Given the description of an element on the screen output the (x, y) to click on. 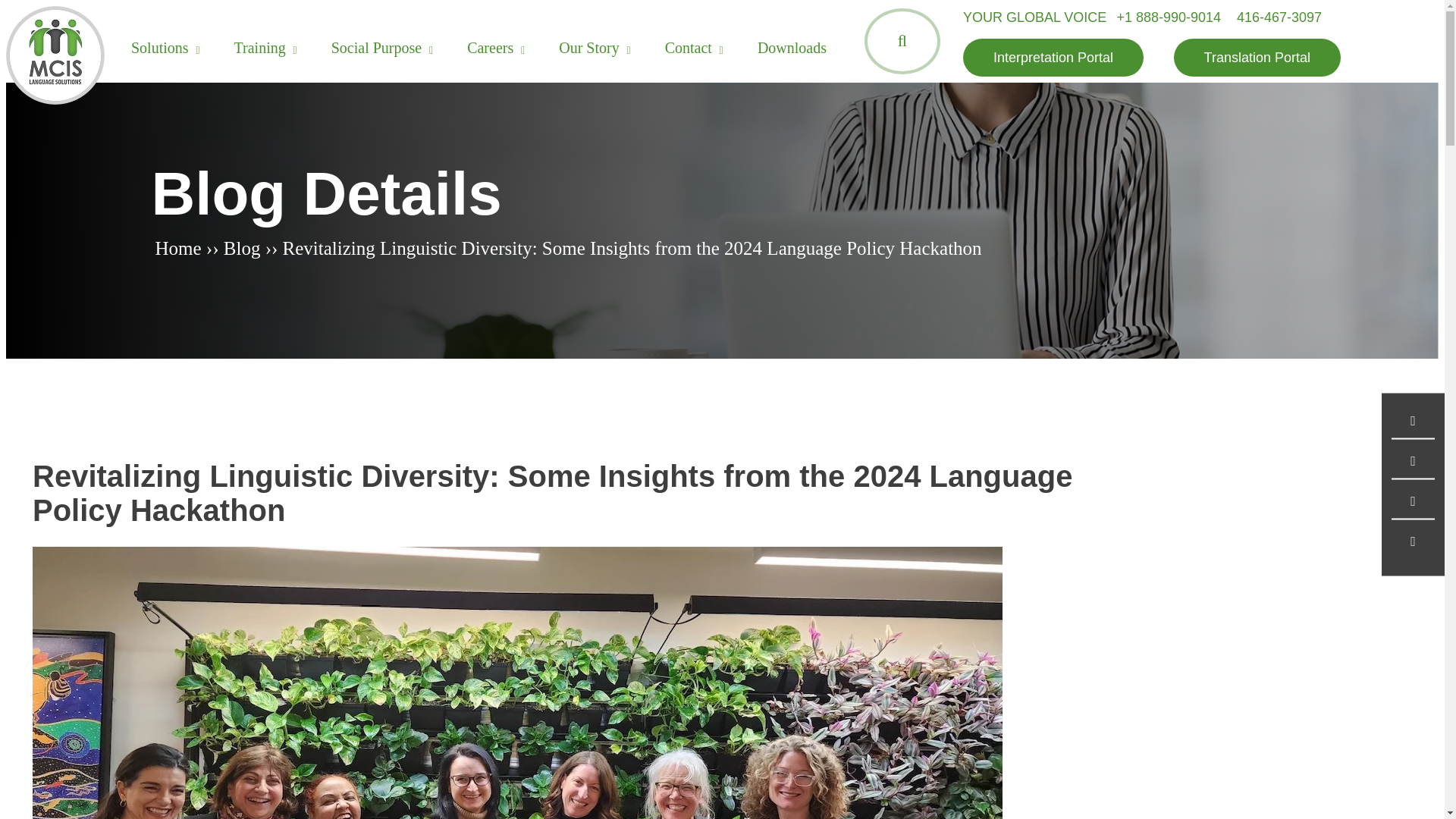
Social Purpose (376, 47)
Careers (490, 47)
Training (259, 47)
Solutions (160, 47)
Home (177, 248)
